Given the description of an element on the screen output the (x, y) to click on. 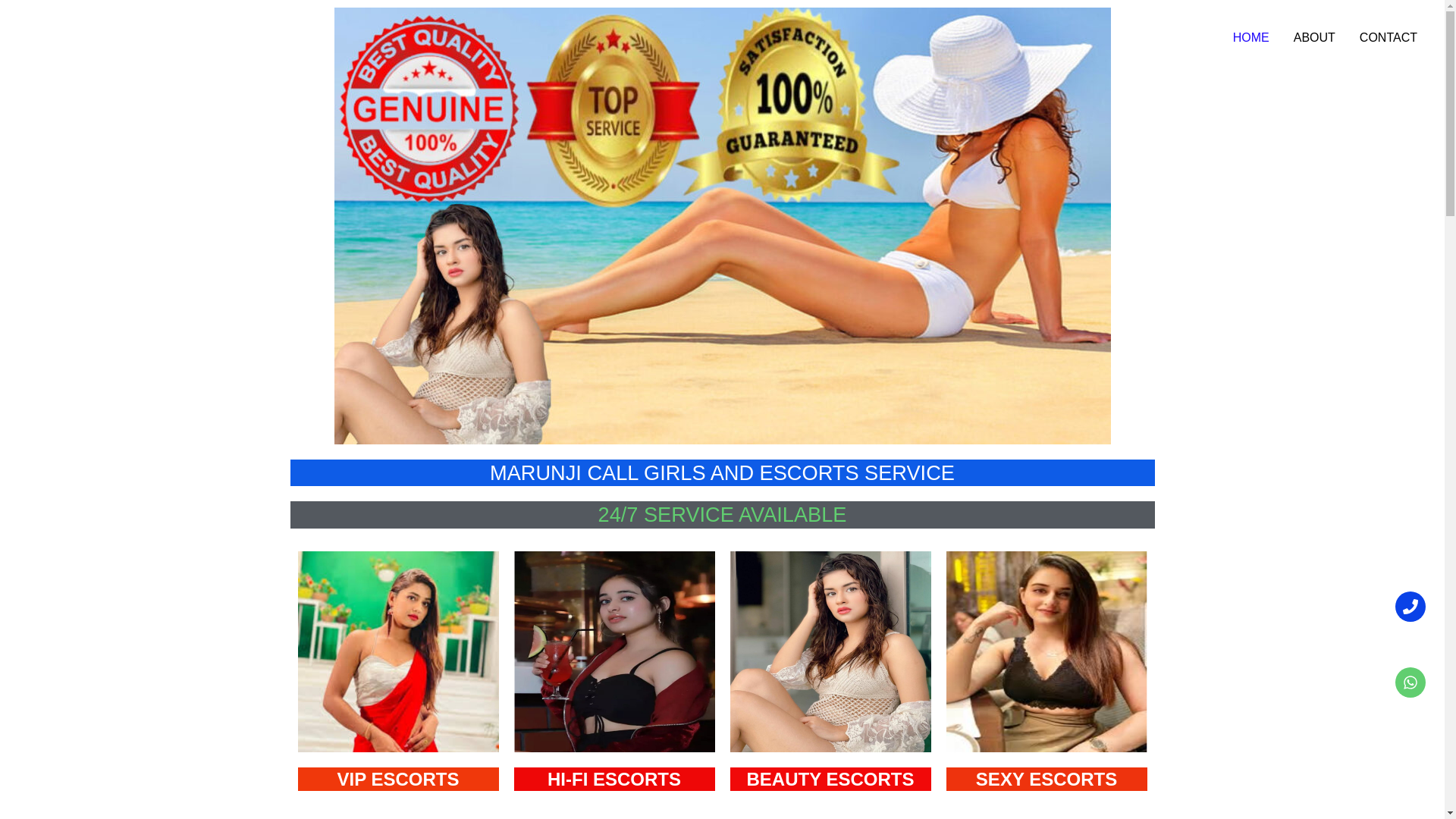
ABOUT (1314, 37)
CONTACT (1388, 37)
HOME (1251, 37)
